Given the description of an element on the screen output the (x, y) to click on. 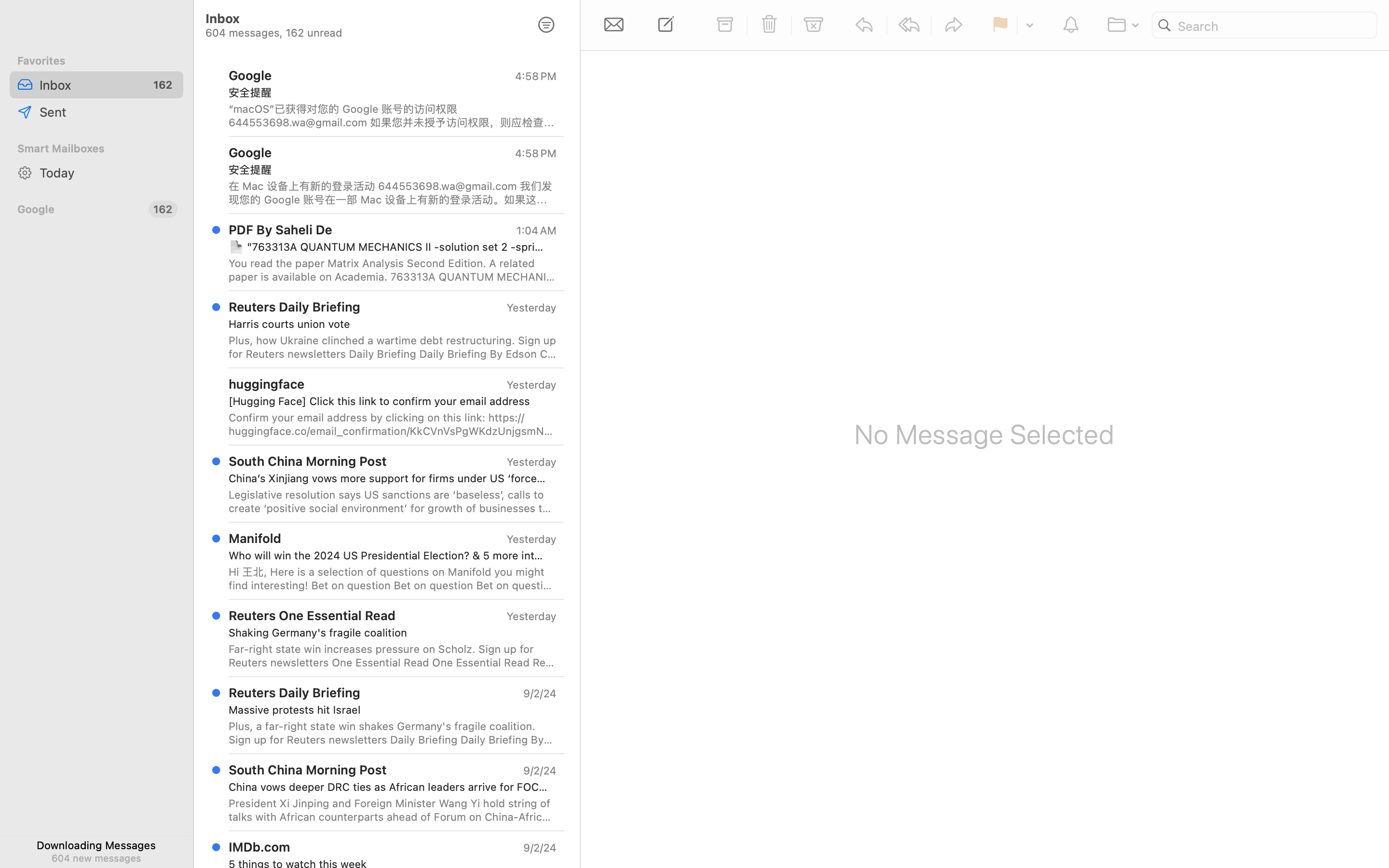
Google Element type: AXStaticText (78, 209)
[Hugging Face] Click this link to confirm your email address Element type: AXStaticText (388, 400)
Smart Mailboxes Element type: AXStaticText (96, 148)
604 new messages Element type: AXStaticText (95, 857)
9/2/24 Element type: AXStaticText (538, 847)
